Given the description of an element on the screen output the (x, y) to click on. 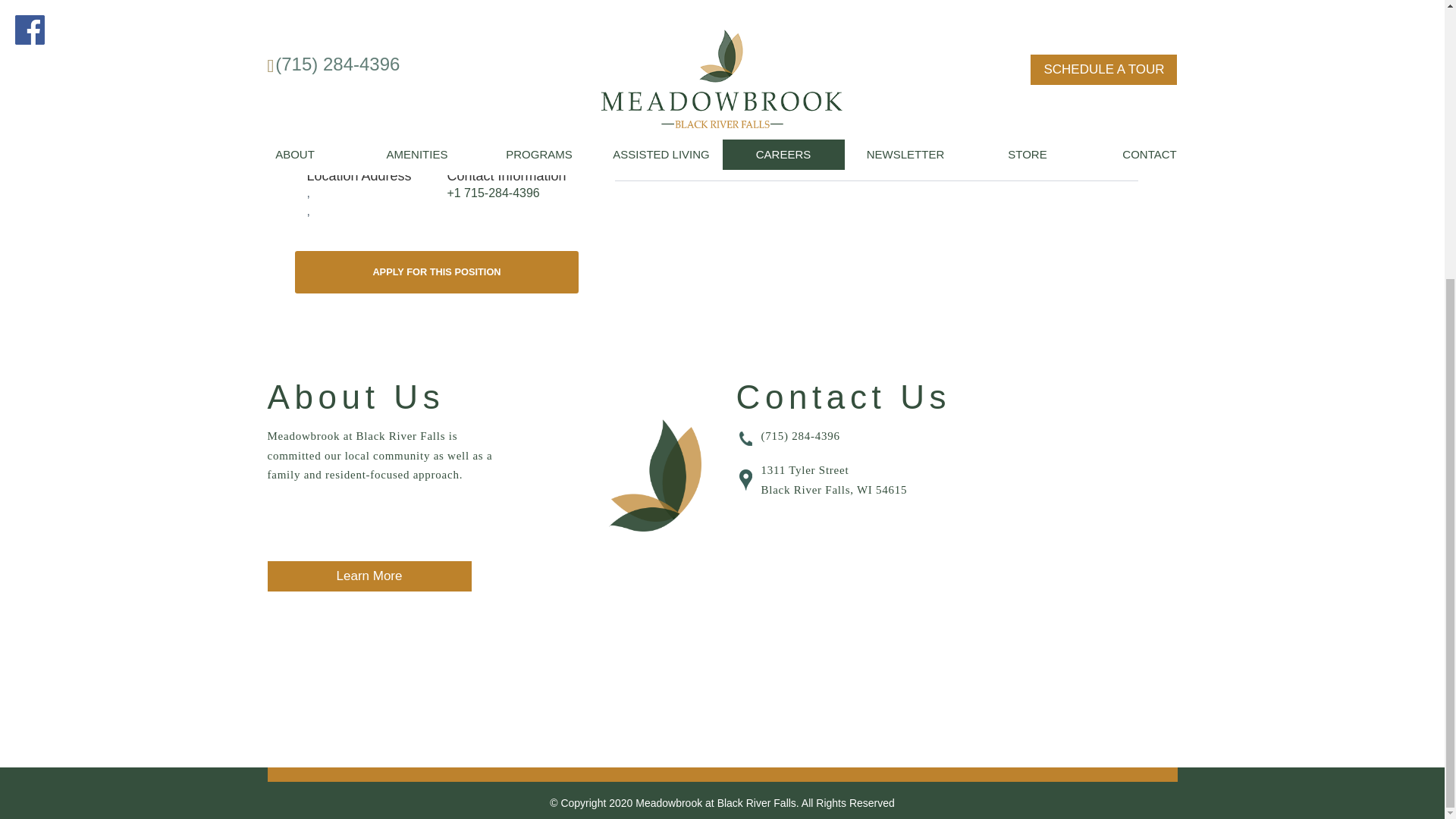
Learn More (368, 576)
Careers (636, 170)
